Given the description of an element on the screen output the (x, y) to click on. 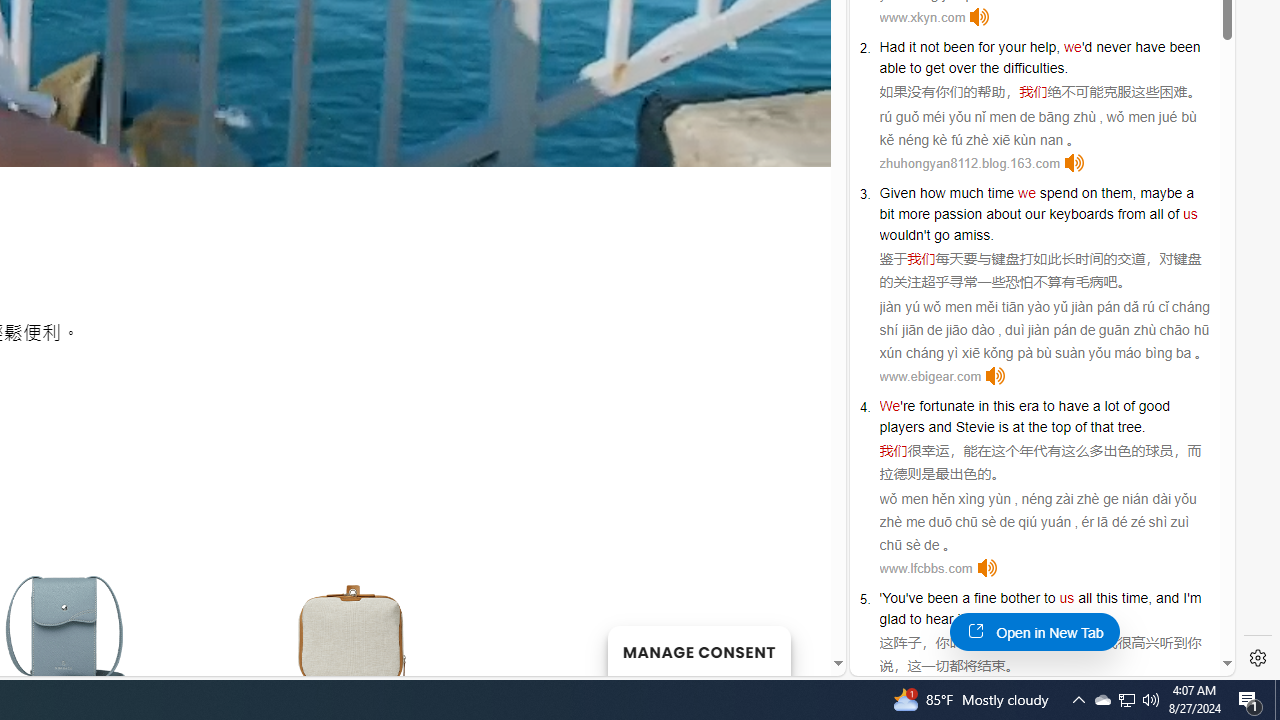
help (1043, 46)
time (1000, 192)
more (914, 213)
www.xkyn.com (922, 17)
